Given the description of an element on the screen output the (x, y) to click on. 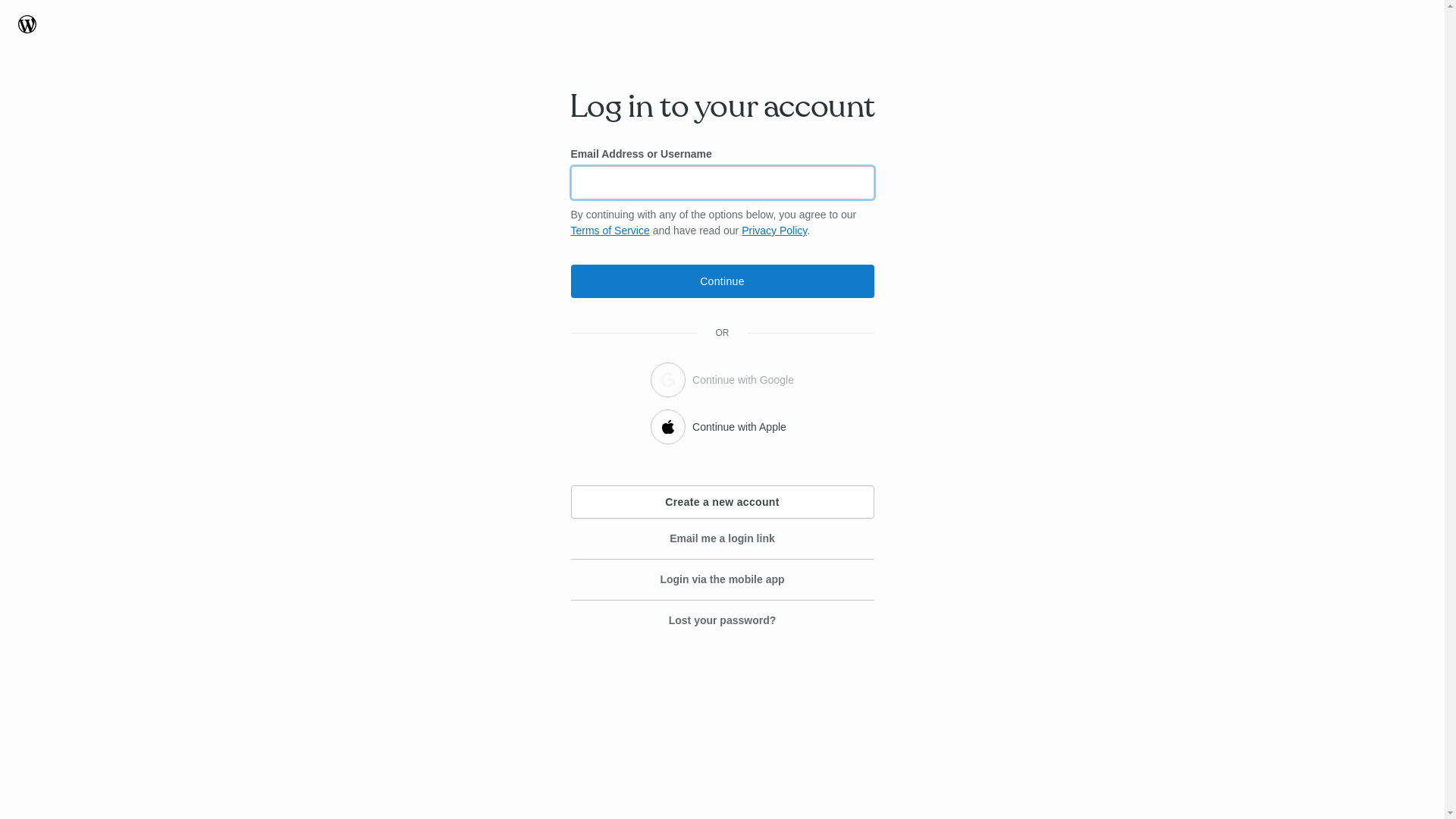
Continue with Google Element type: text (721, 377)
Lost your password? Element type: text (721, 620)
Continue with Apple Element type: text (721, 424)
Continue Element type: text (721, 281)
Privacy Policy Element type: text (773, 230)
Login via the mobile app Element type: text (721, 579)
Create a new account Element type: text (721, 501)
Email me a login link Element type: text (721, 538)
Terms of Service Element type: text (609, 230)
